Given the description of an element on the screen output the (x, y) to click on. 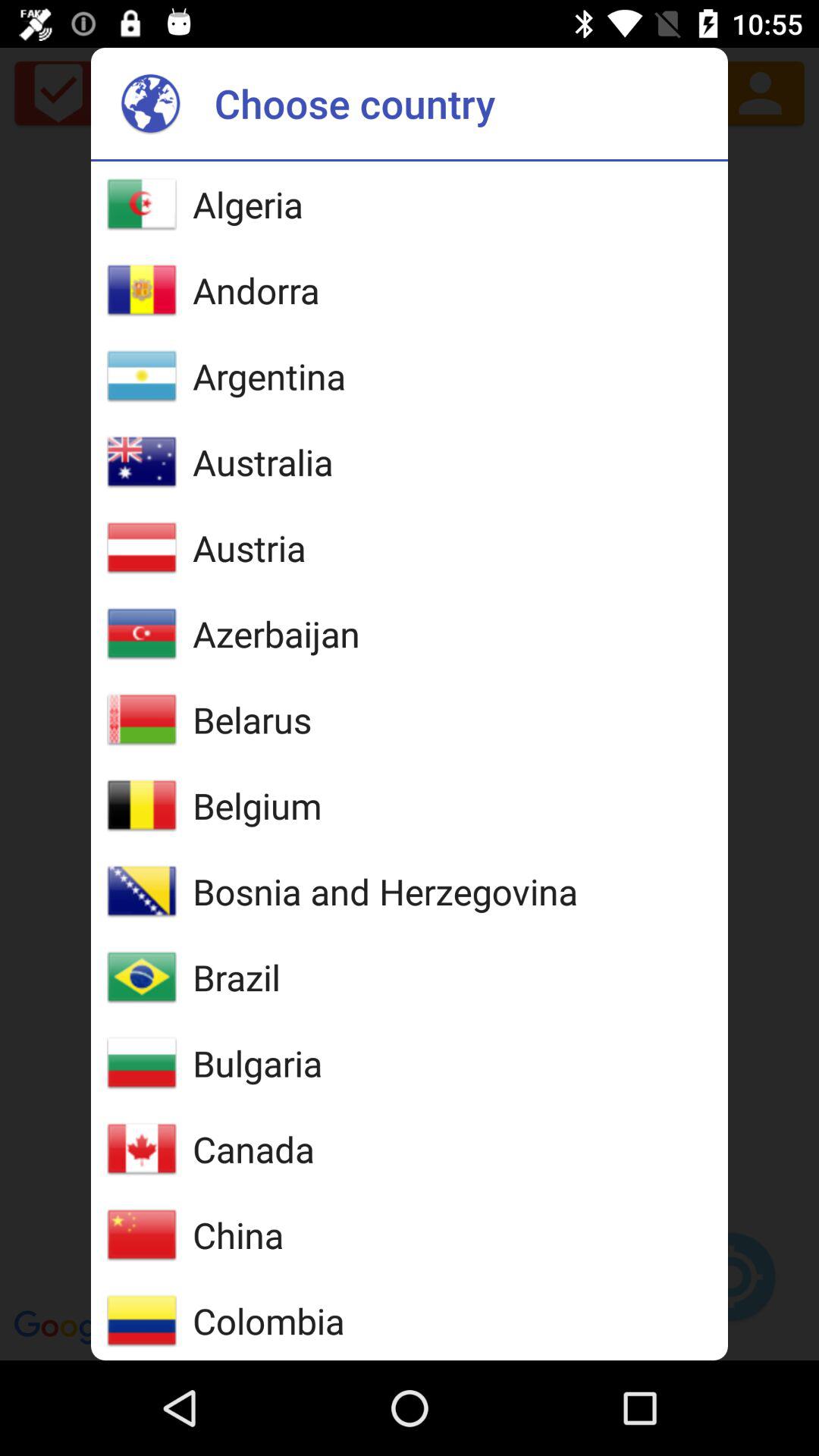
open item above argentina (255, 290)
